Given the description of an element on the screen output the (x, y) to click on. 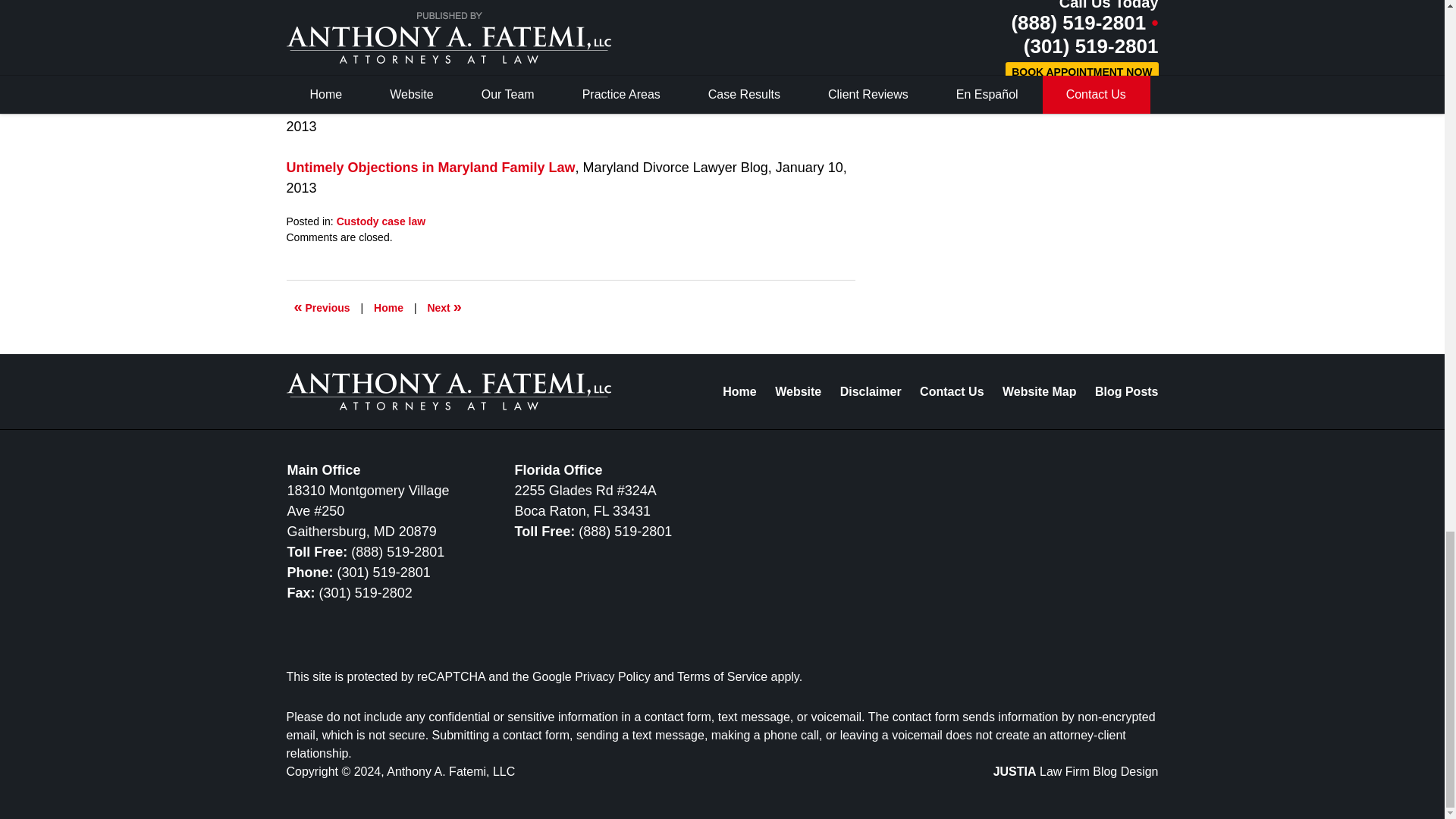
Untimely Objections in Maryland Family Law (430, 167)
Corporal Punishment in Maryland Family Law (434, 105)
View all posts in Custody case law (381, 221)
Failure to Pay Child Support in Maryland (322, 307)
Home (388, 307)
family law (457, 23)
Custody case law (381, 221)
Calculating Child Support in Maryland (443, 307)
